Given the description of an element on the screen output the (x, y) to click on. 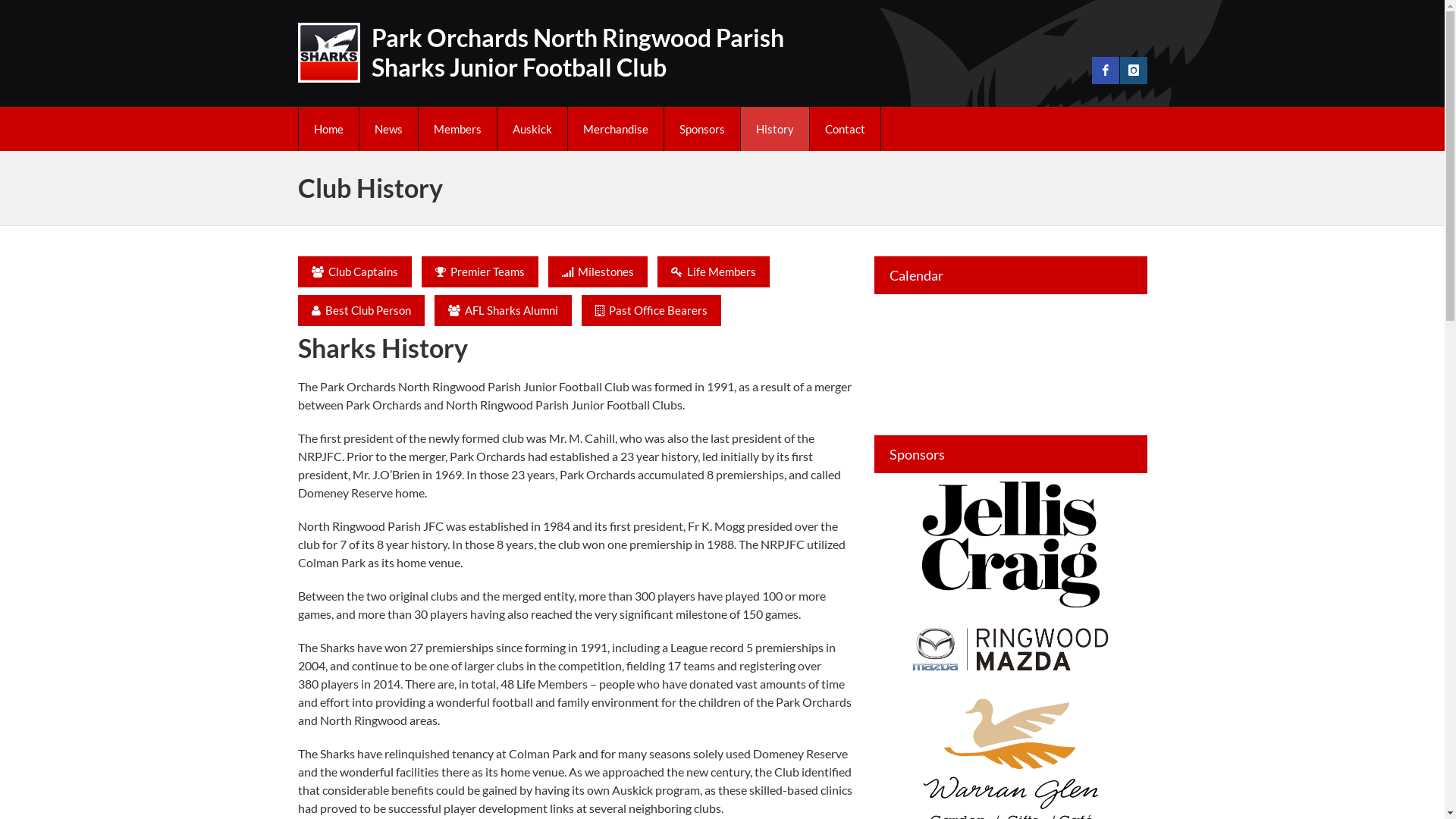
  Past Office Bearers Element type: text (650, 310)
  Premier Teams Element type: text (479, 271)
  AFL Sharks Alumni Element type: text (502, 310)
Auskick Element type: text (532, 128)
News Element type: text (388, 128)
Members Element type: text (457, 128)
History Element type: text (774, 128)
  Milestones Element type: text (596, 271)
Sponsors Element type: text (702, 128)
Merchandise Element type: text (614, 128)
  Club Captains Element type: text (354, 271)
Home Element type: text (328, 128)
  Best Club Person Element type: text (360, 310)
Contact Element type: text (844, 128)
  Life Members Element type: text (712, 271)
